Given the description of an element on the screen output the (x, y) to click on. 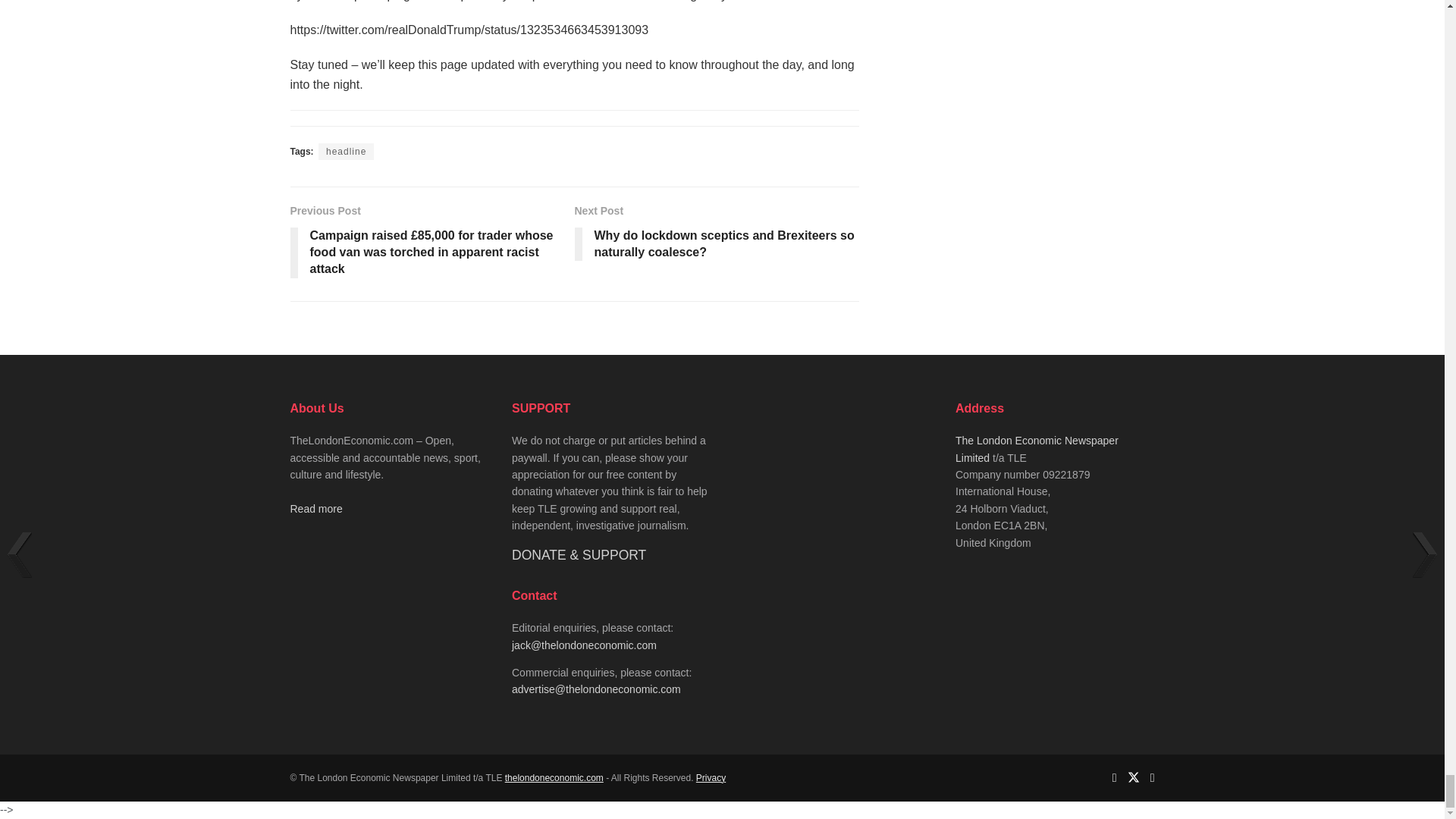
Privacy (710, 777)
The London Economic (554, 777)
